Given the description of an element on the screen output the (x, y) to click on. 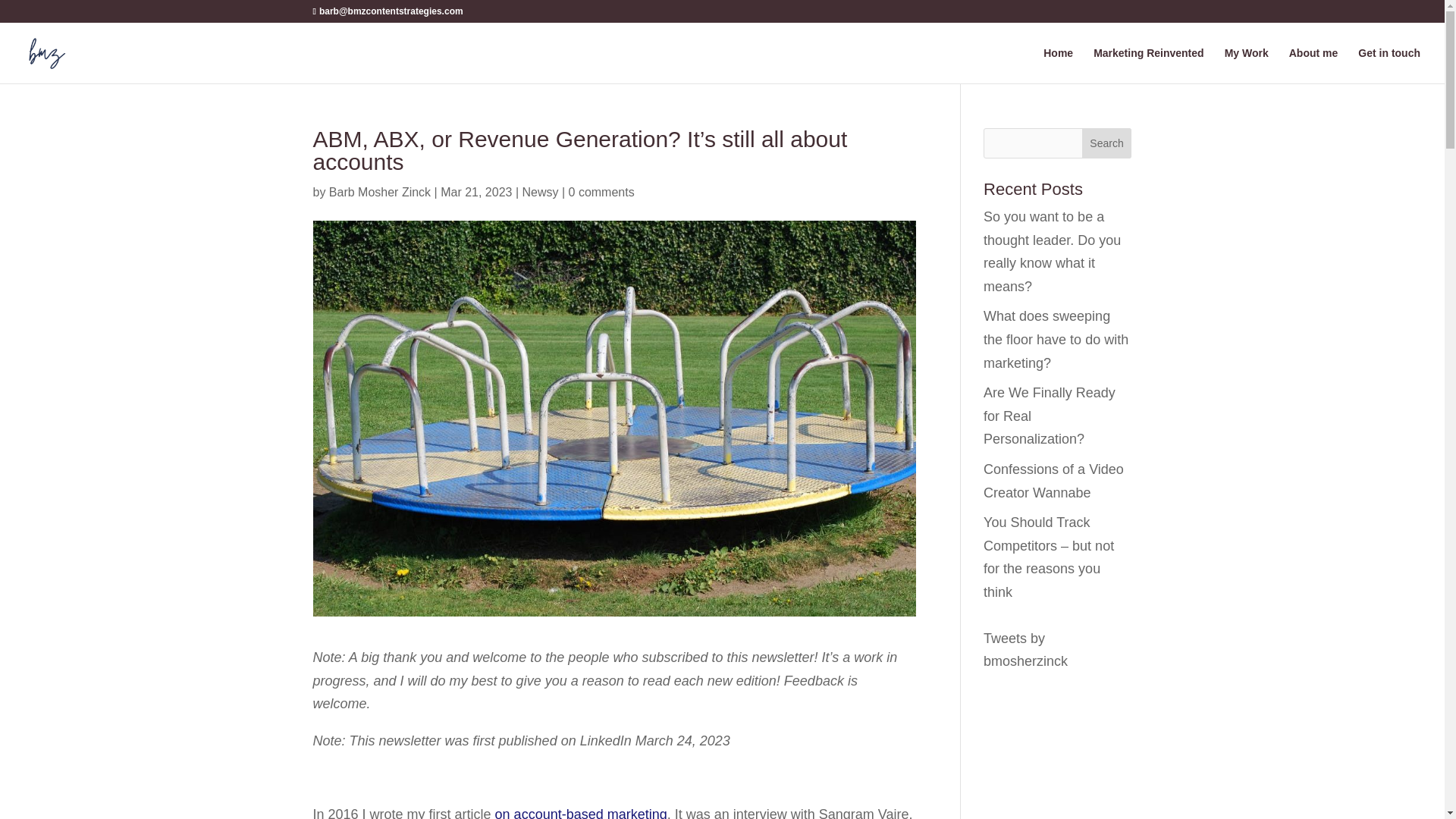
What does sweeping the floor have to do with marketing? (1056, 339)
Confessions of a Video Creator Wannabe (1054, 480)
Posts by Barb Mosher Zinck (379, 192)
Search (1106, 142)
My Work (1246, 65)
Are We Finally Ready for Real Personalization? (1049, 415)
Tweets by bmosherzinck (1025, 649)
Barb Mosher Zinck (379, 192)
on account-based marketing (580, 812)
Get in touch (1389, 65)
